Given the description of an element on the screen output the (x, y) to click on. 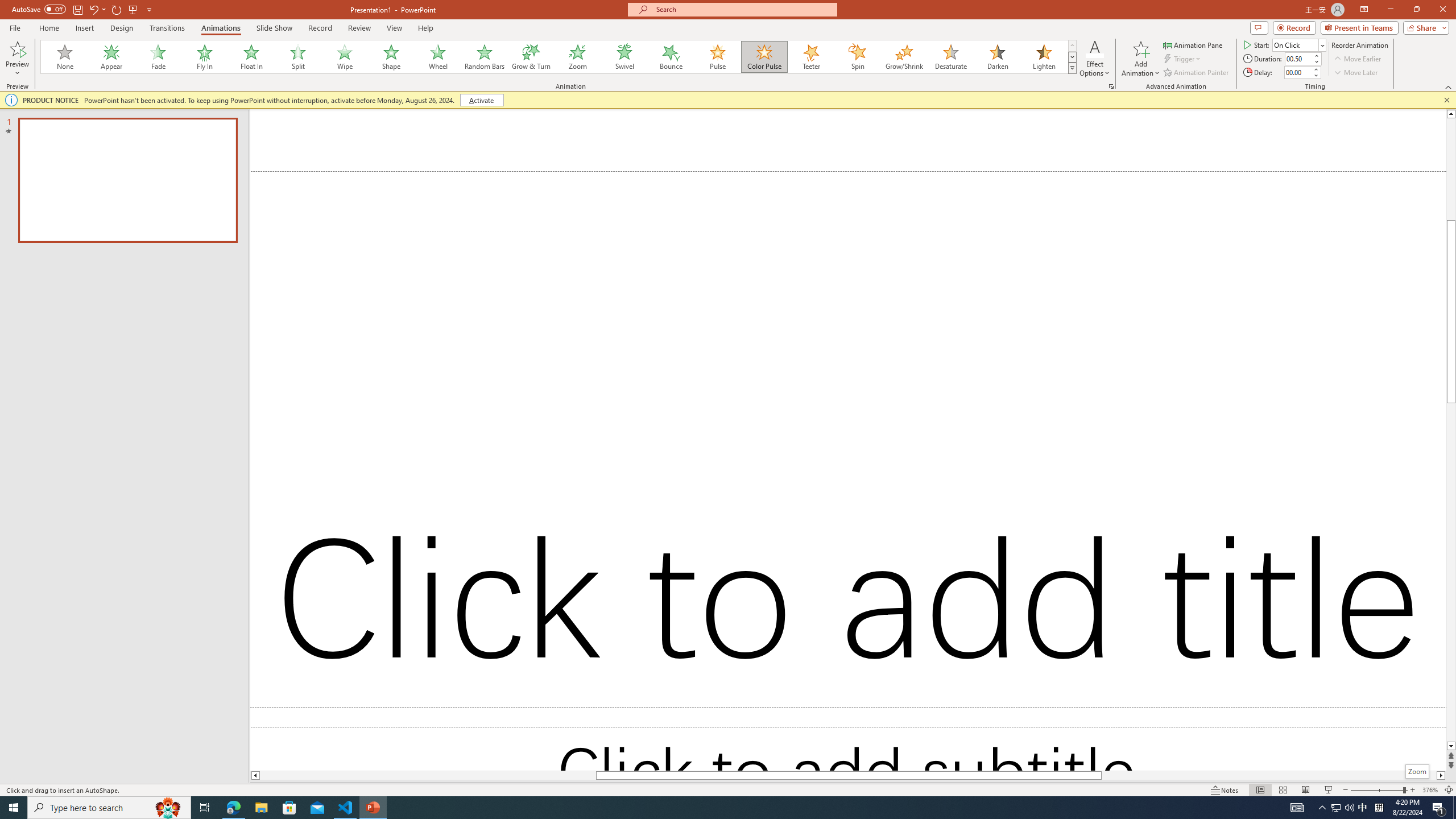
Lighten (1043, 56)
Float In (251, 56)
Animation Pane (1193, 44)
Start (1299, 44)
Row Down (1071, 56)
Wheel (437, 56)
Swivel (624, 56)
Notes  (1225, 790)
None (65, 56)
